Given the description of an element on the screen output the (x, y) to click on. 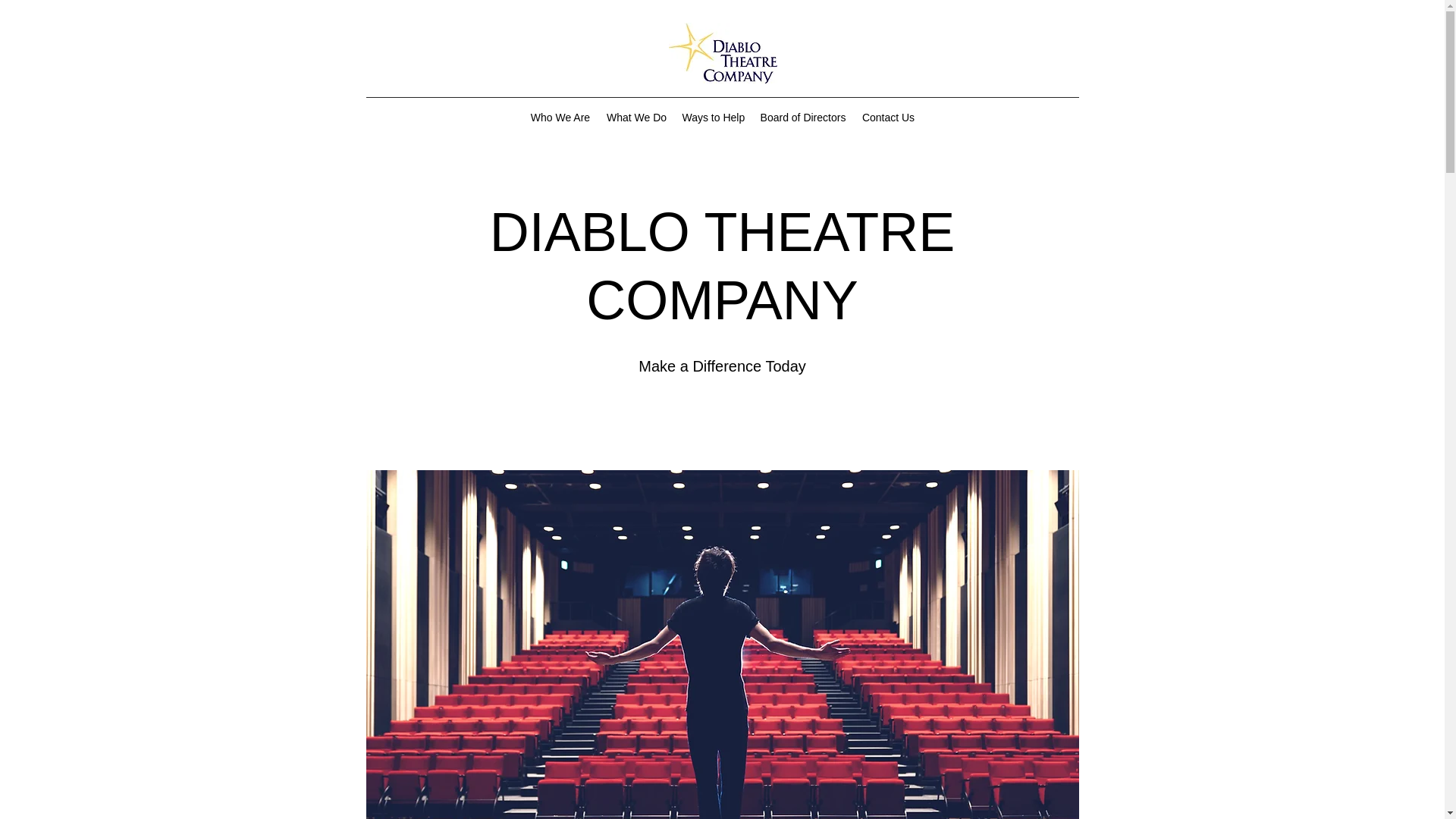
Ways to Help (713, 117)
Contact Us (887, 117)
Board of Directors (803, 117)
Who We Are (559, 117)
What We Do (636, 117)
